Given the description of an element on the screen output the (x, y) to click on. 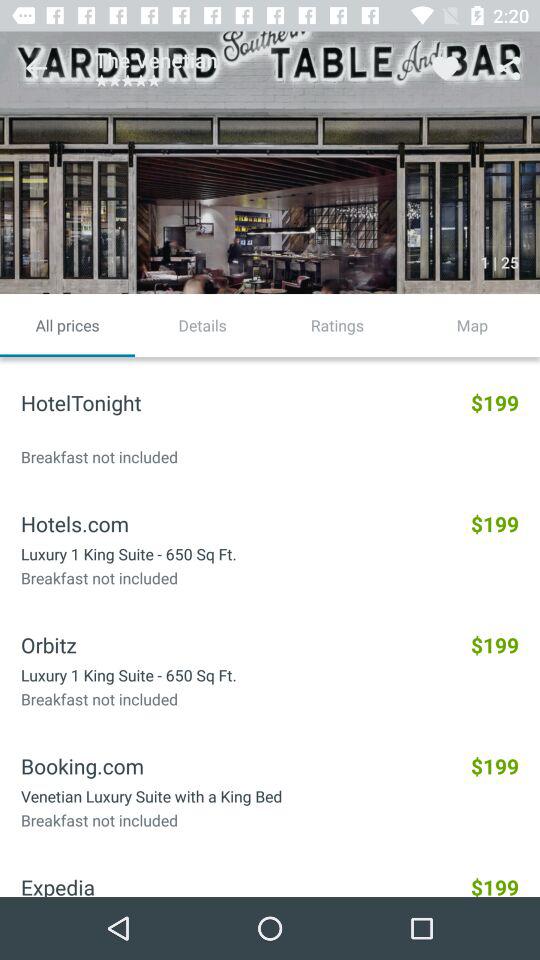
turn off item above all prices icon (36, 68)
